Given the description of an element on the screen output the (x, y) to click on. 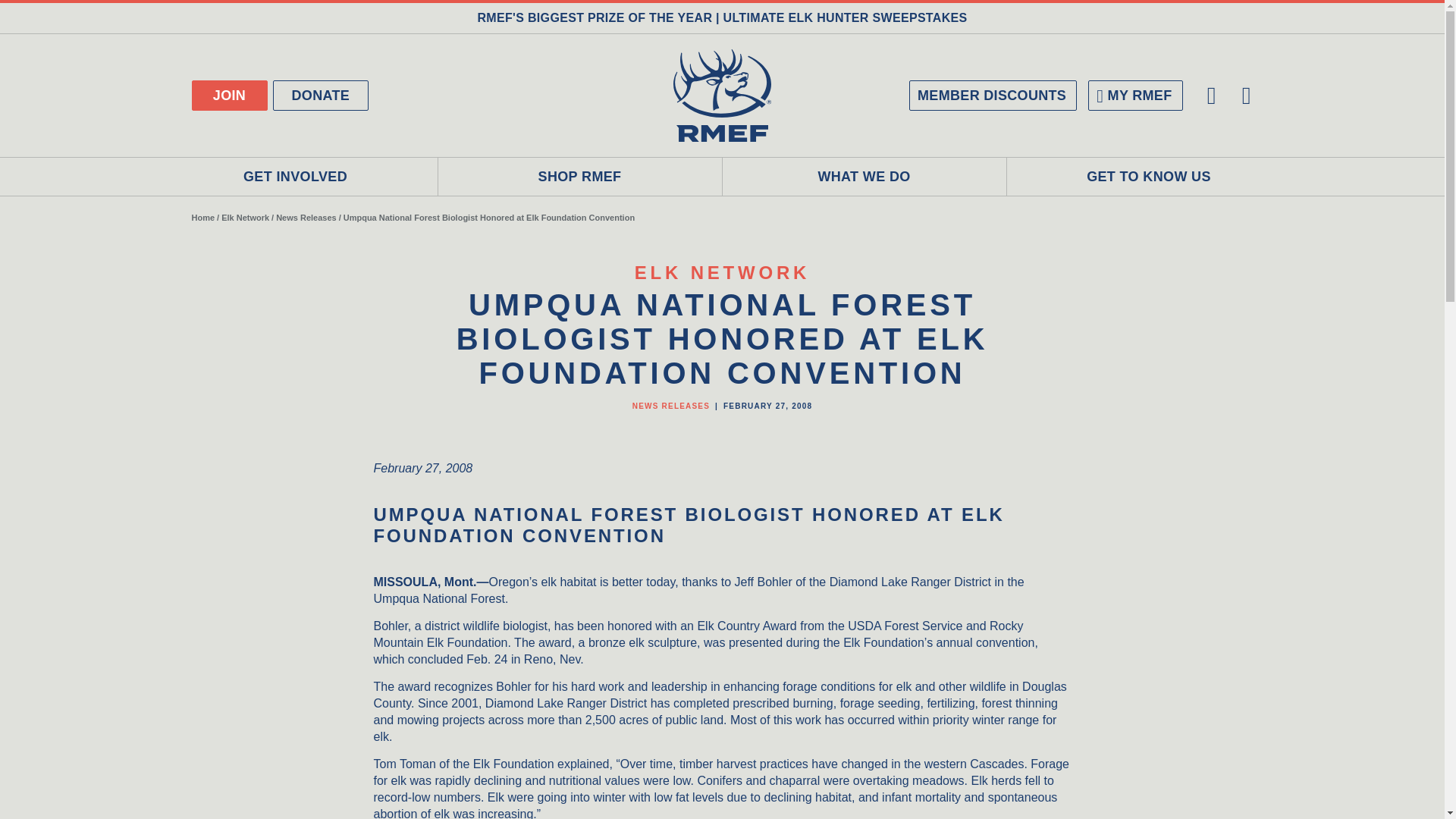
MY RMEF (1134, 95)
JOIN (228, 95)
DONATE (321, 95)
GET TO KNOW US (1149, 176)
MEMBER DISCOUNTS (992, 95)
SHOP RMEF (580, 176)
WHAT WE DO (864, 176)
GET INVOLVED (295, 176)
